Given the description of an element on the screen output the (x, y) to click on. 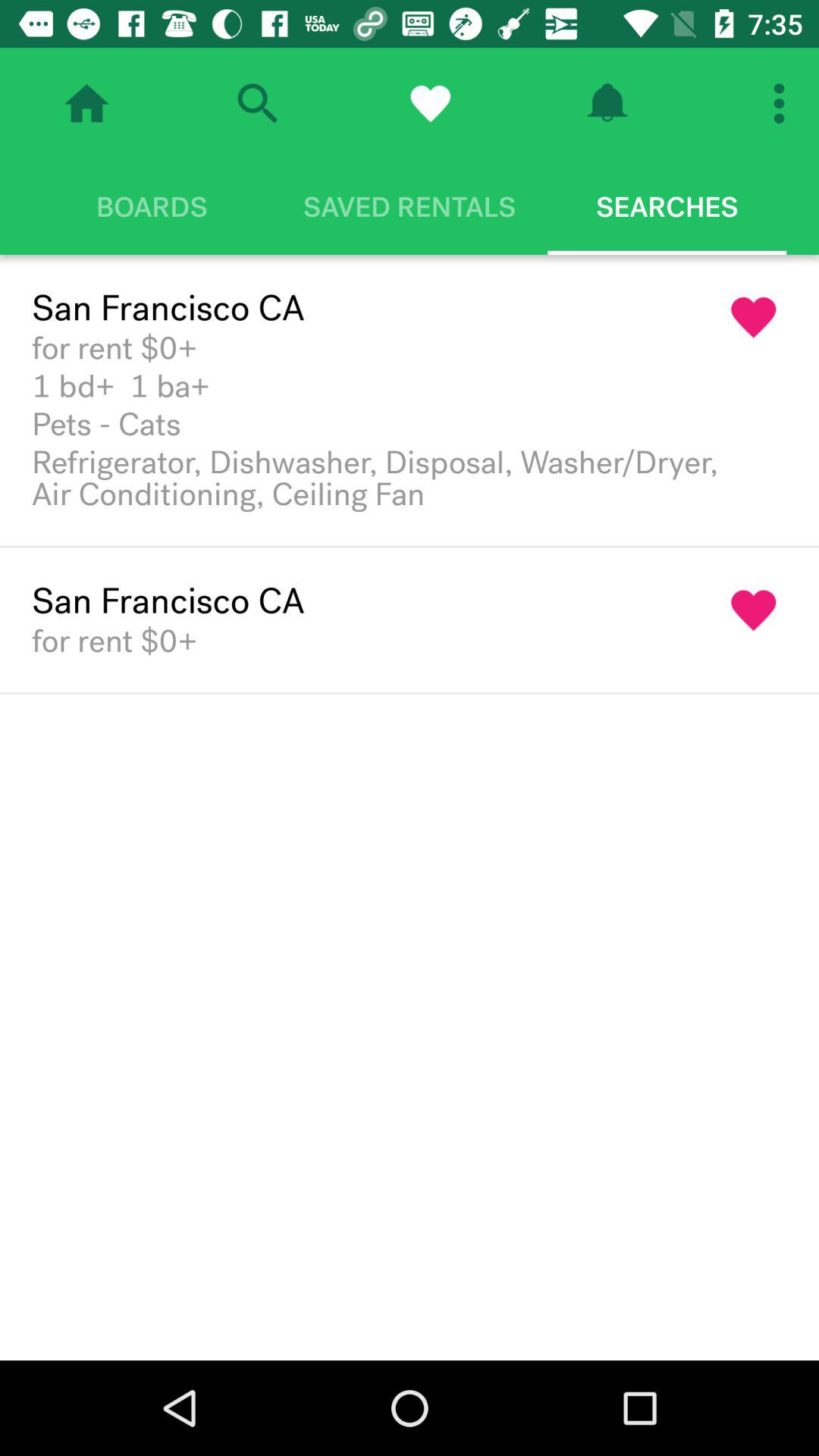
go home (86, 103)
